Given the description of an element on the screen output the (x, y) to click on. 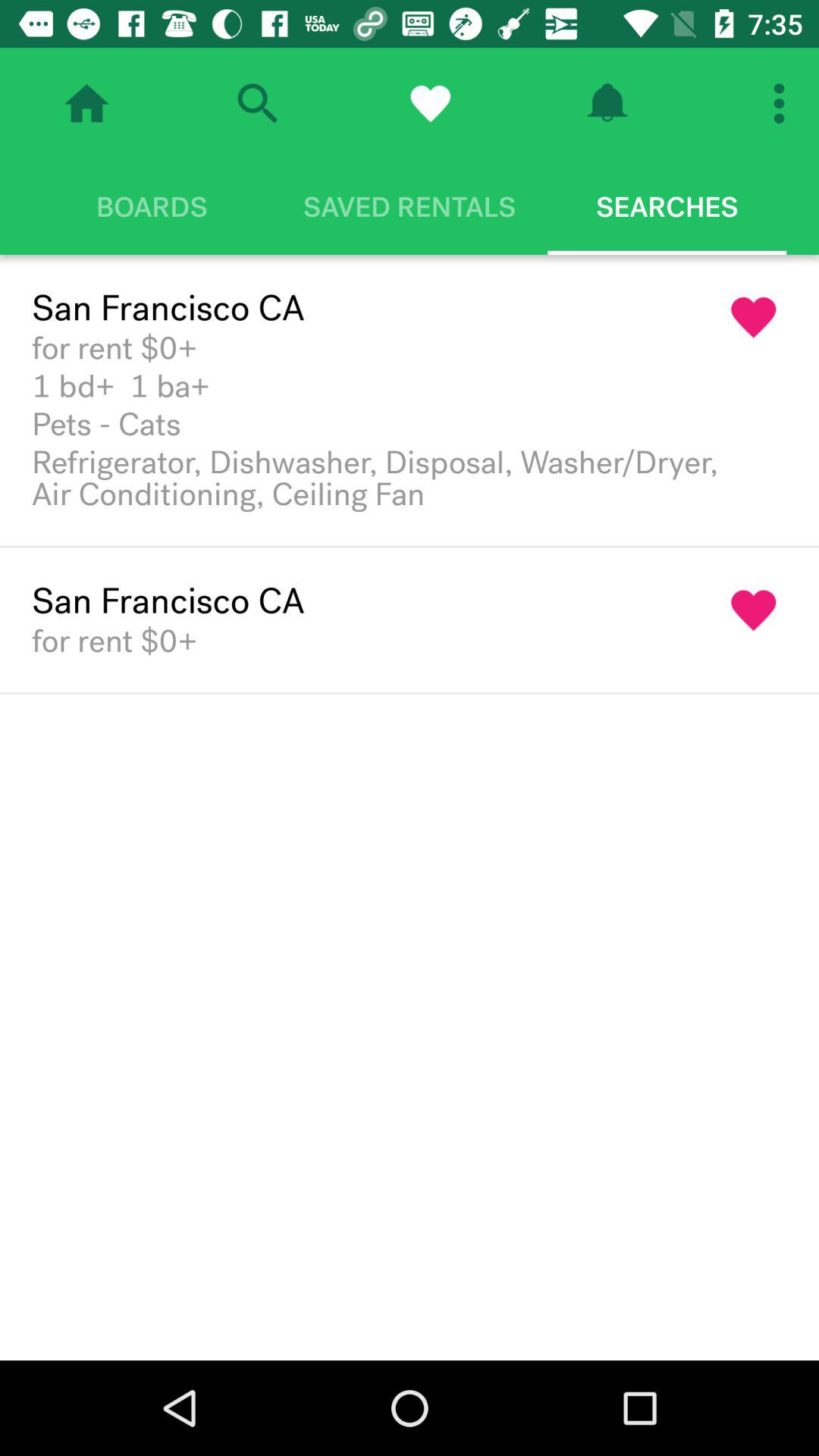
go home (86, 103)
